Given the description of an element on the screen output the (x, y) to click on. 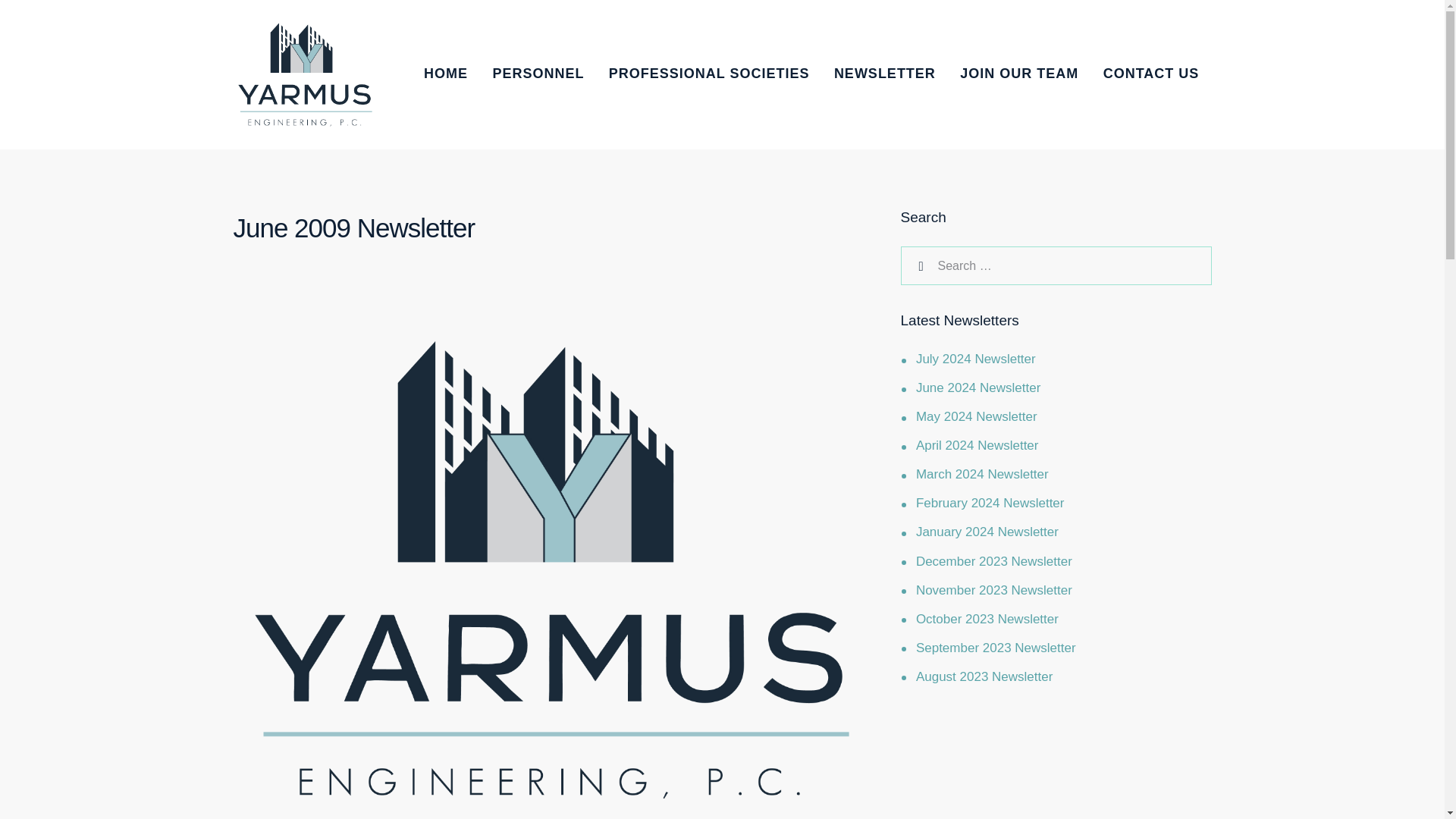
JOIN OUR TEAM (1018, 74)
PERSONNEL (537, 74)
CONTACT US (1150, 74)
NEWSLETTER (884, 74)
Search (919, 265)
Search (919, 265)
PROFESSIONAL SOCIETIES (709, 74)
HOME (446, 74)
Search (919, 265)
